Given the description of an element on the screen output the (x, y) to click on. 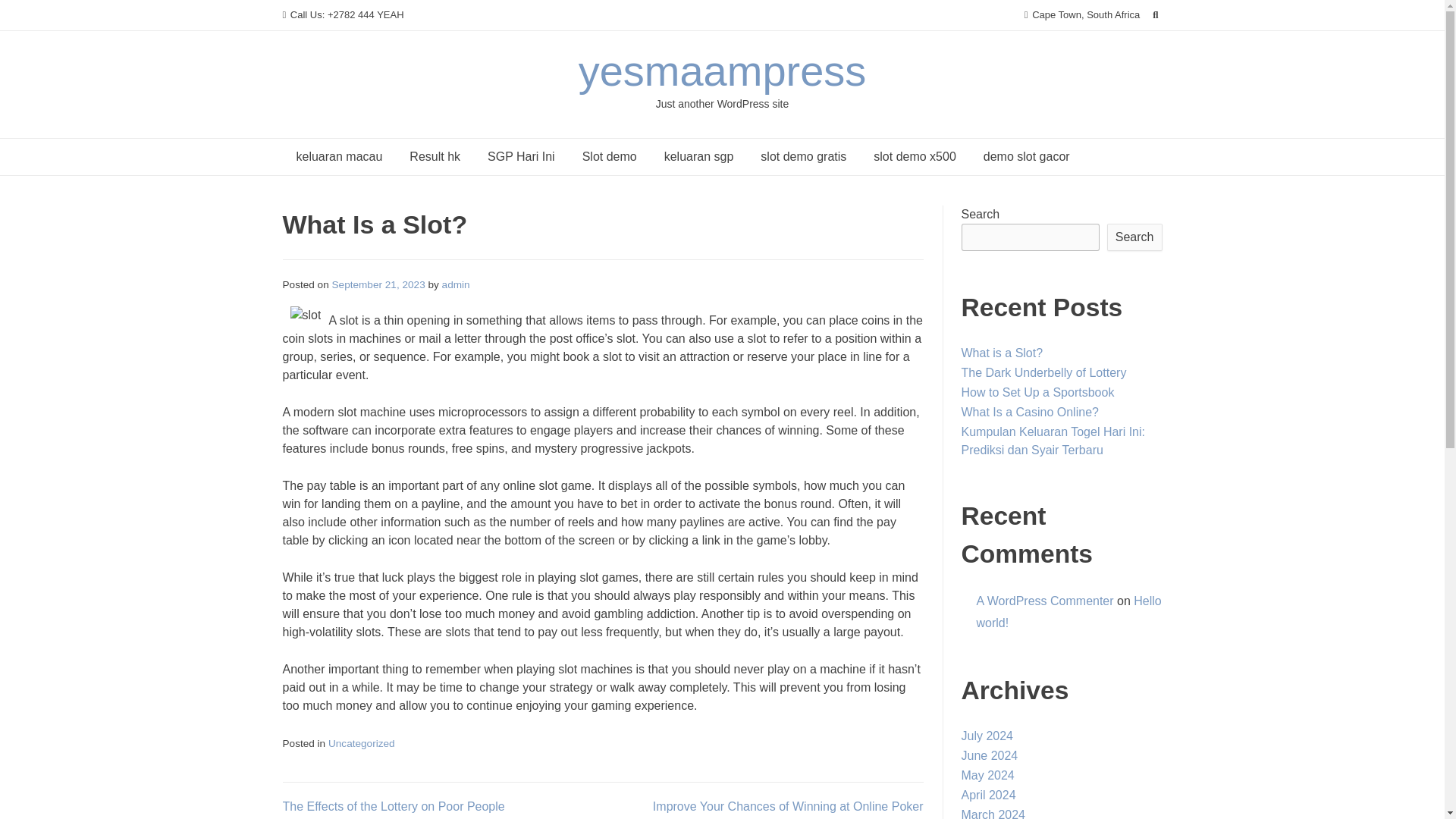
May 2024 (987, 775)
Improve Your Chances of Winning at Online Poker (787, 806)
What is a Slot? (1001, 352)
keluaran macau (339, 156)
Kumpulan Keluaran Togel Hari Ini: Prediksi dan Syair Terbaru (1052, 440)
April 2024 (988, 794)
Slot demo (609, 156)
A WordPress Commenter (1044, 600)
yesmaampress (722, 70)
Hello world! (1068, 611)
The Dark Underbelly of Lottery (1043, 372)
SGP Hari Ini (521, 156)
slot demo x500 (914, 156)
Uncategorized (361, 743)
The Effects of the Lottery on Poor People (392, 806)
